Given the description of an element on the screen output the (x, y) to click on. 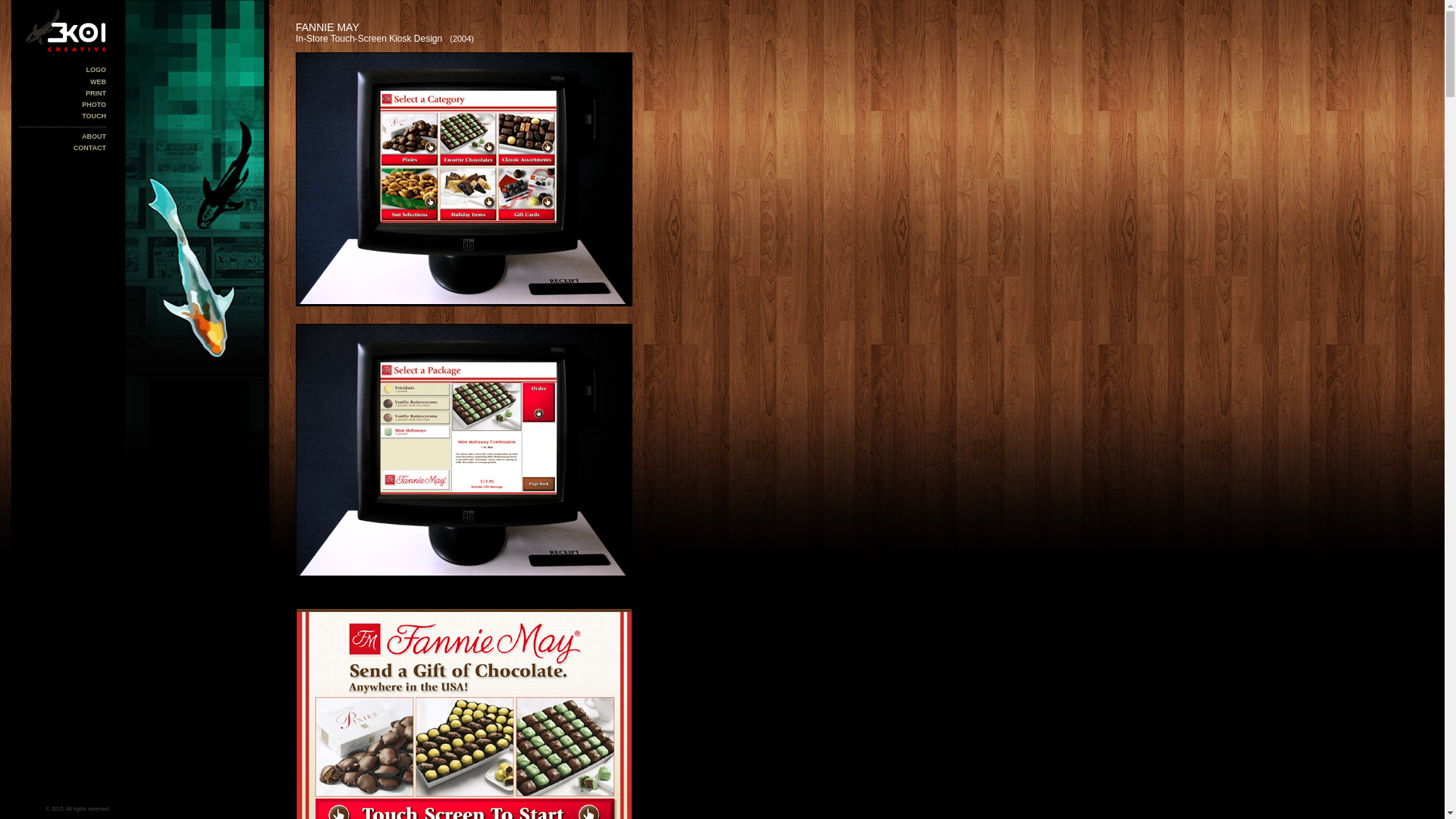
WEB Element type: text (98, 81)
TOUCH Element type: text (93, 115)
ABOUT Element type: text (93, 136)
PRINT Element type: text (95, 93)
Creative Design Solutions Element type: hover (62, 30)
CONTACT Element type: text (89, 147)
LOGO Element type: text (96, 69)
PHOTO Element type: text (93, 104)
